Given the description of an element on the screen output the (x, y) to click on. 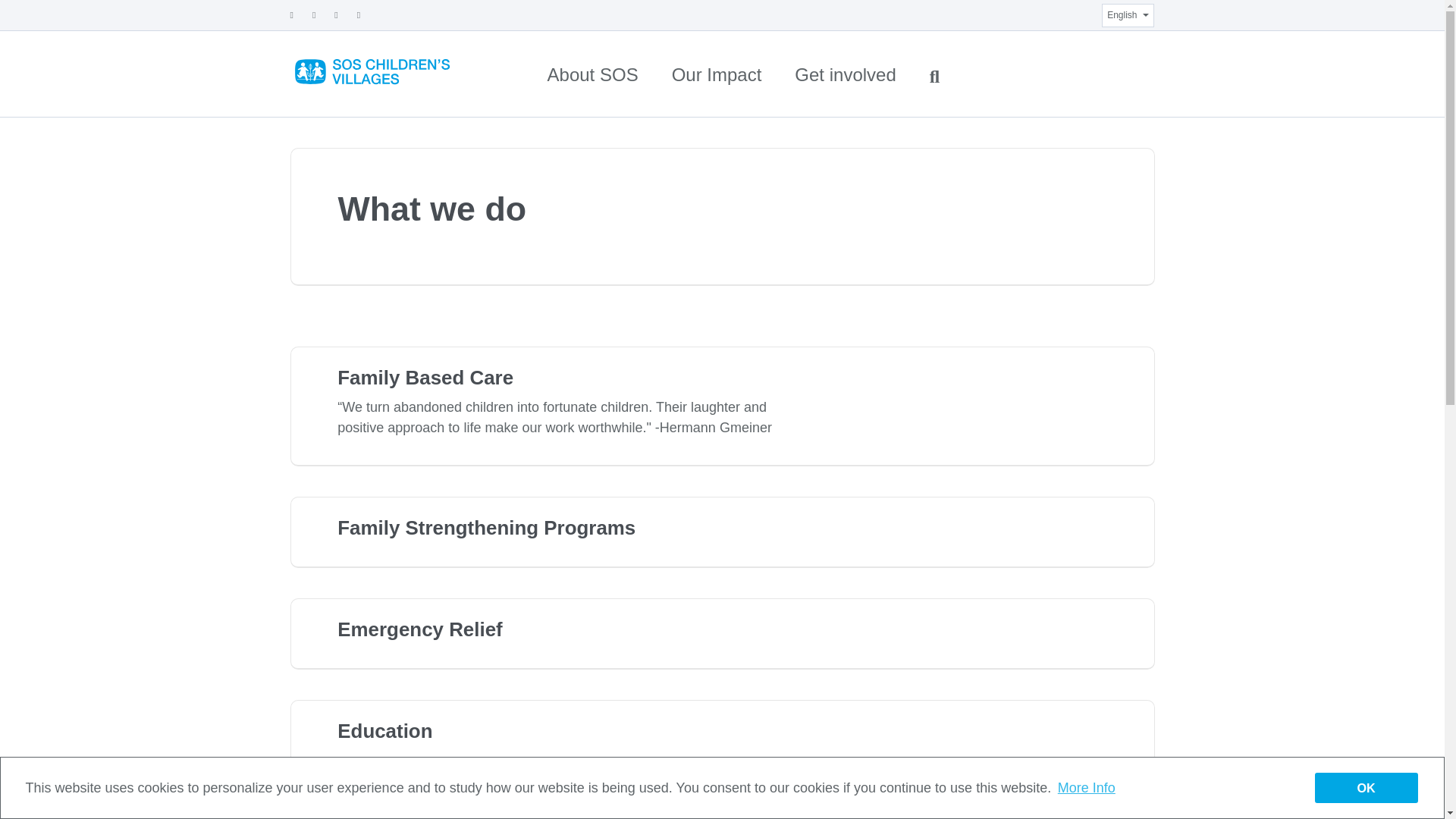
English (1127, 14)
Get involved (844, 74)
About SOS (592, 74)
More Info (1086, 787)
Our Impact (716, 74)
OK (1366, 787)
About SOS (592, 74)
